Given the description of an element on the screen output the (x, y) to click on. 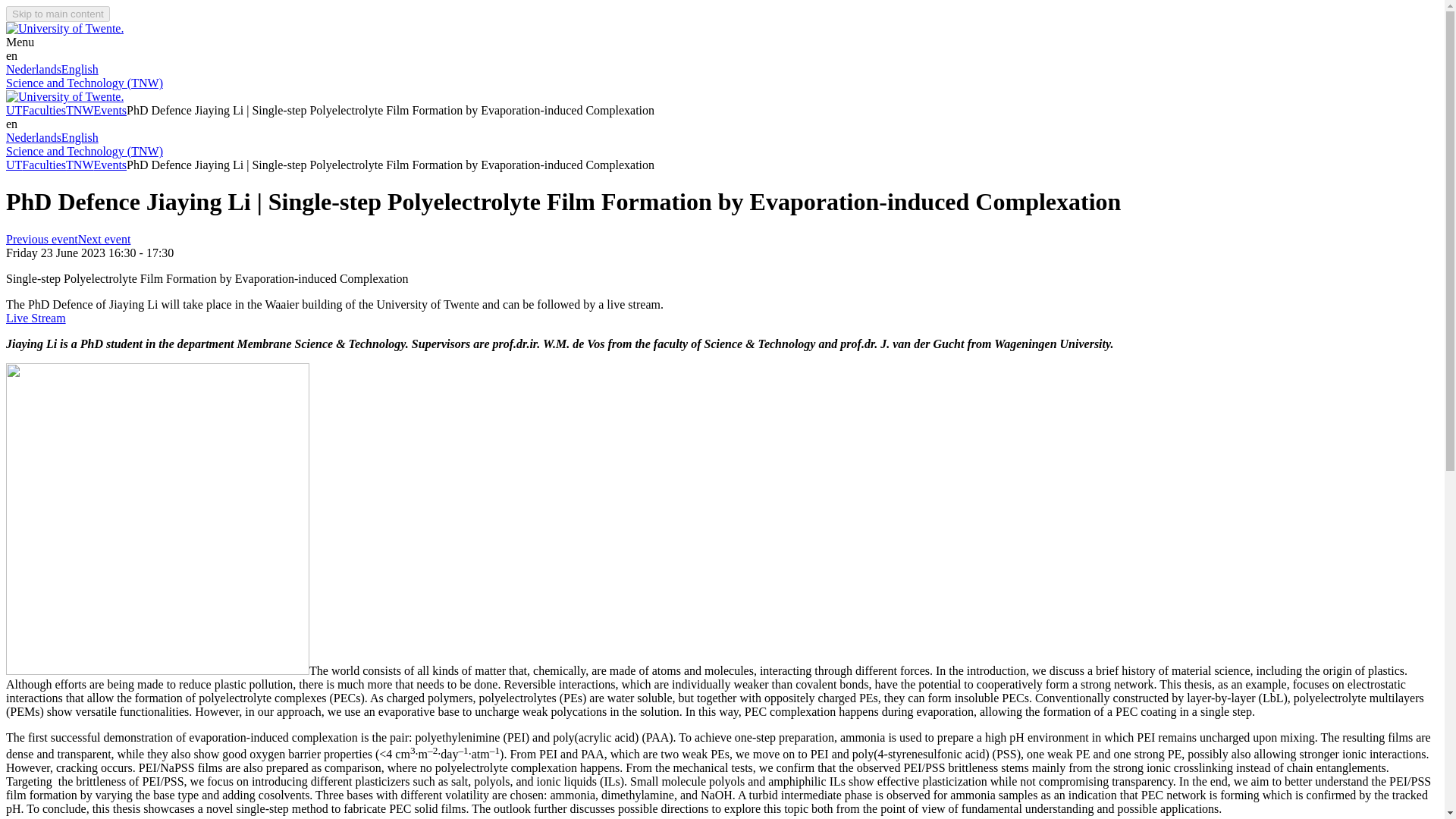
English (80, 137)
Nederlands (33, 137)
Previous event (41, 238)
UT (13, 164)
Nederlands (33, 69)
Next event (104, 238)
Faculties (43, 164)
Faculties (43, 110)
TNW (79, 164)
Events (111, 164)
Skip to main content (57, 13)
Live Stream (35, 318)
Events (111, 110)
UT (13, 110)
TNW (79, 110)
